Given the description of an element on the screen output the (x, y) to click on. 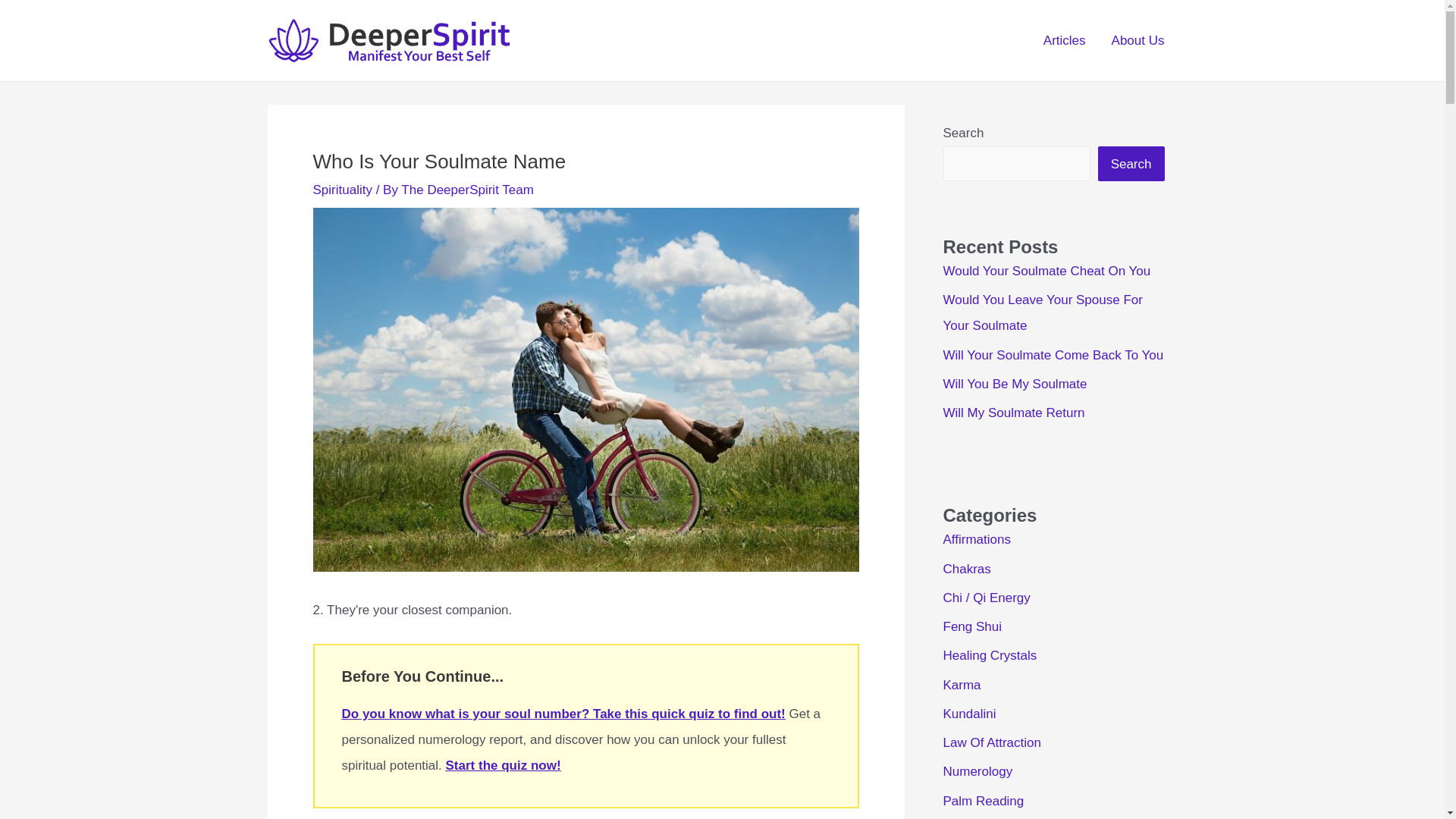
Law Of Attraction (992, 742)
Chakras (967, 568)
Healing Crystals (989, 655)
Karma (962, 685)
Palm Reading (984, 800)
Search (1130, 163)
Start the quiz now! (502, 765)
Spirituality (342, 189)
Feng Shui (973, 626)
Would Your Soulmate Cheat On You (1047, 270)
Affirmations (976, 539)
Will Your Soulmate Come Back To You (1053, 355)
About Us (1138, 39)
Will My Soulmate Return (1013, 412)
